Given the description of an element on the screen output the (x, y) to click on. 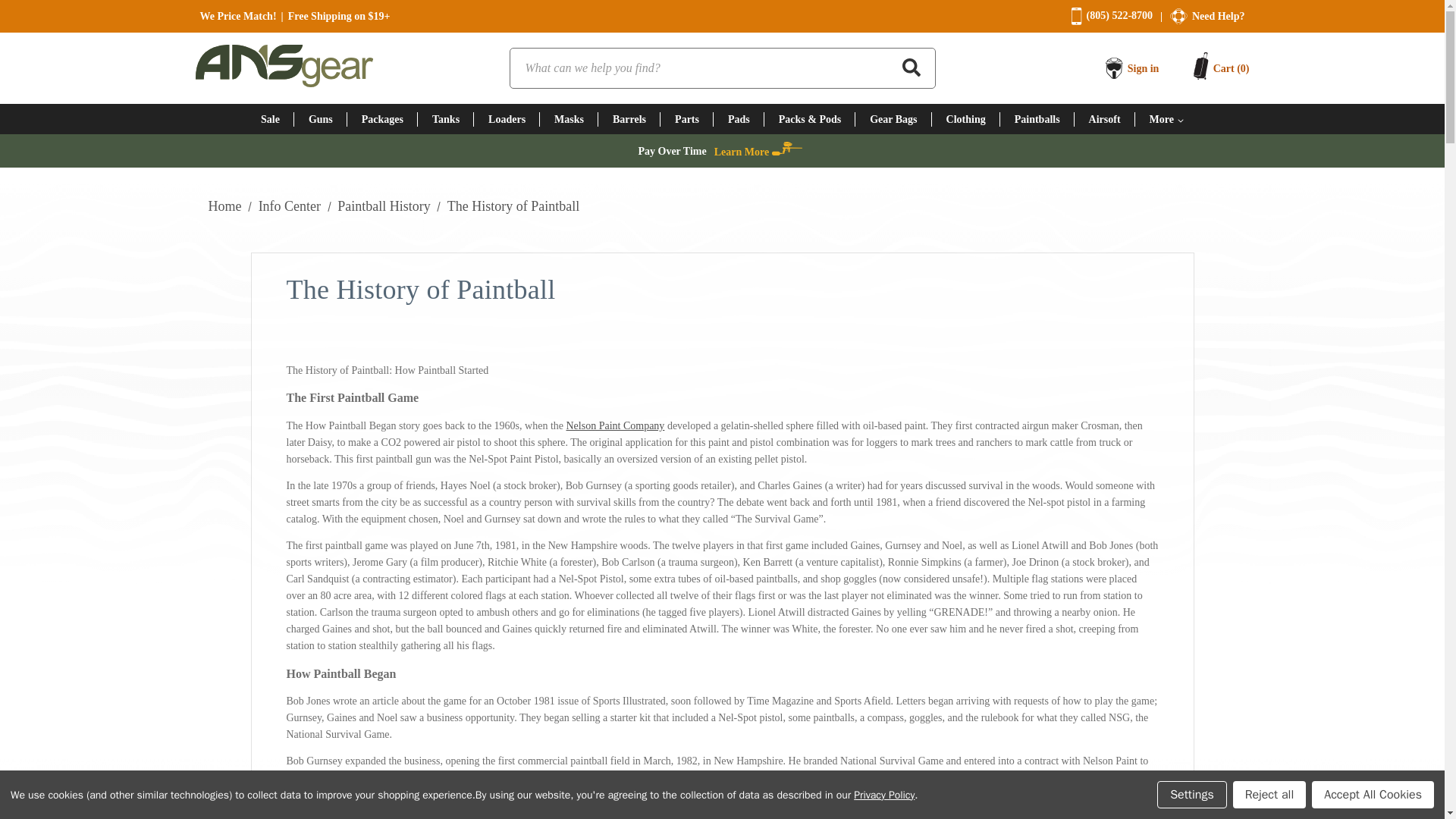
Sign in (1142, 68)
We Price Match! (238, 16)
Need Help? (1218, 16)
